Given the description of an element on the screen output the (x, y) to click on. 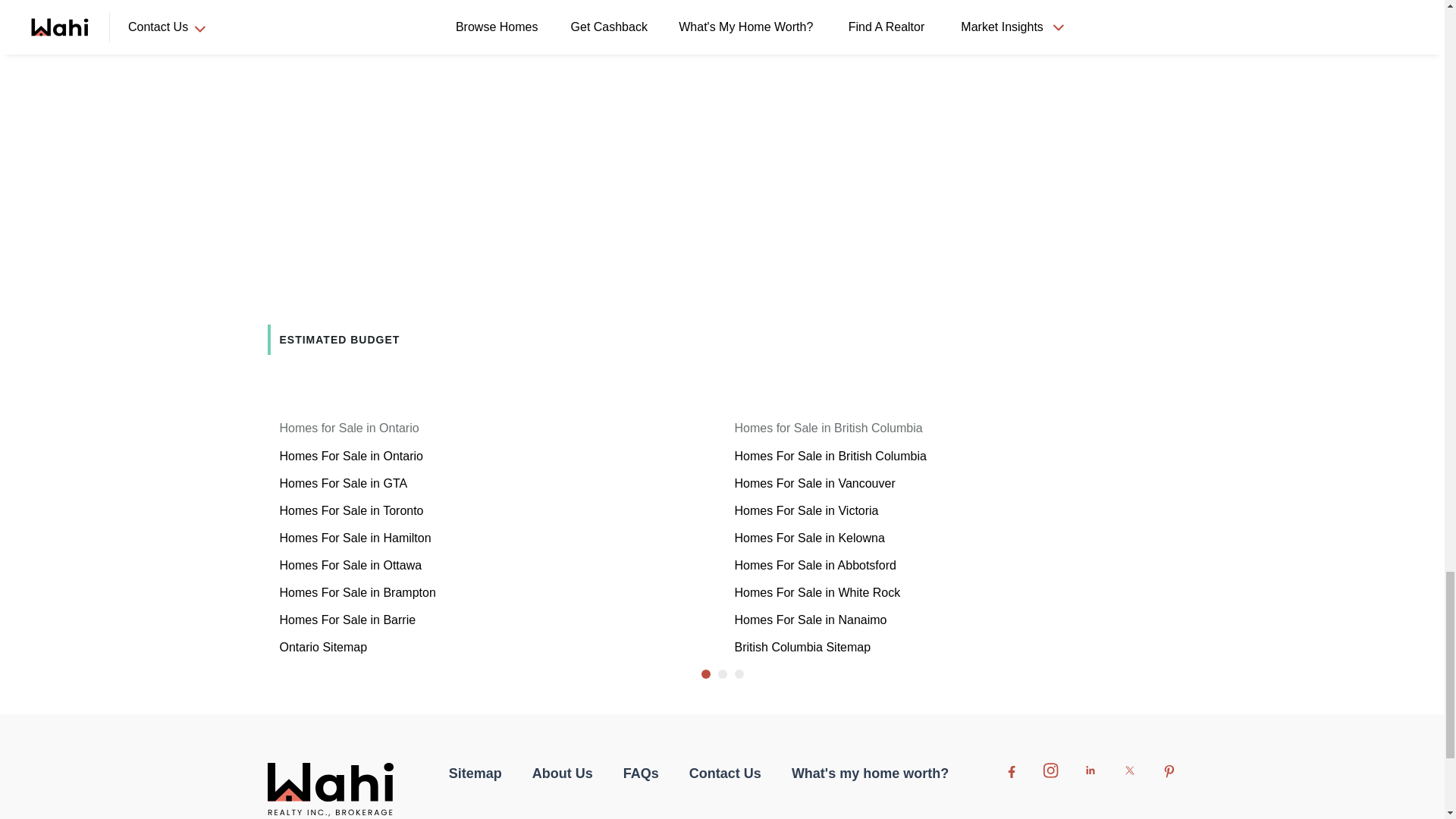
Homes For Sale in Ontario (350, 455)
Homes For Sale in Toronto (351, 510)
Homes For Sale in GTA (343, 482)
